Given the description of an element on the screen output the (x, y) to click on. 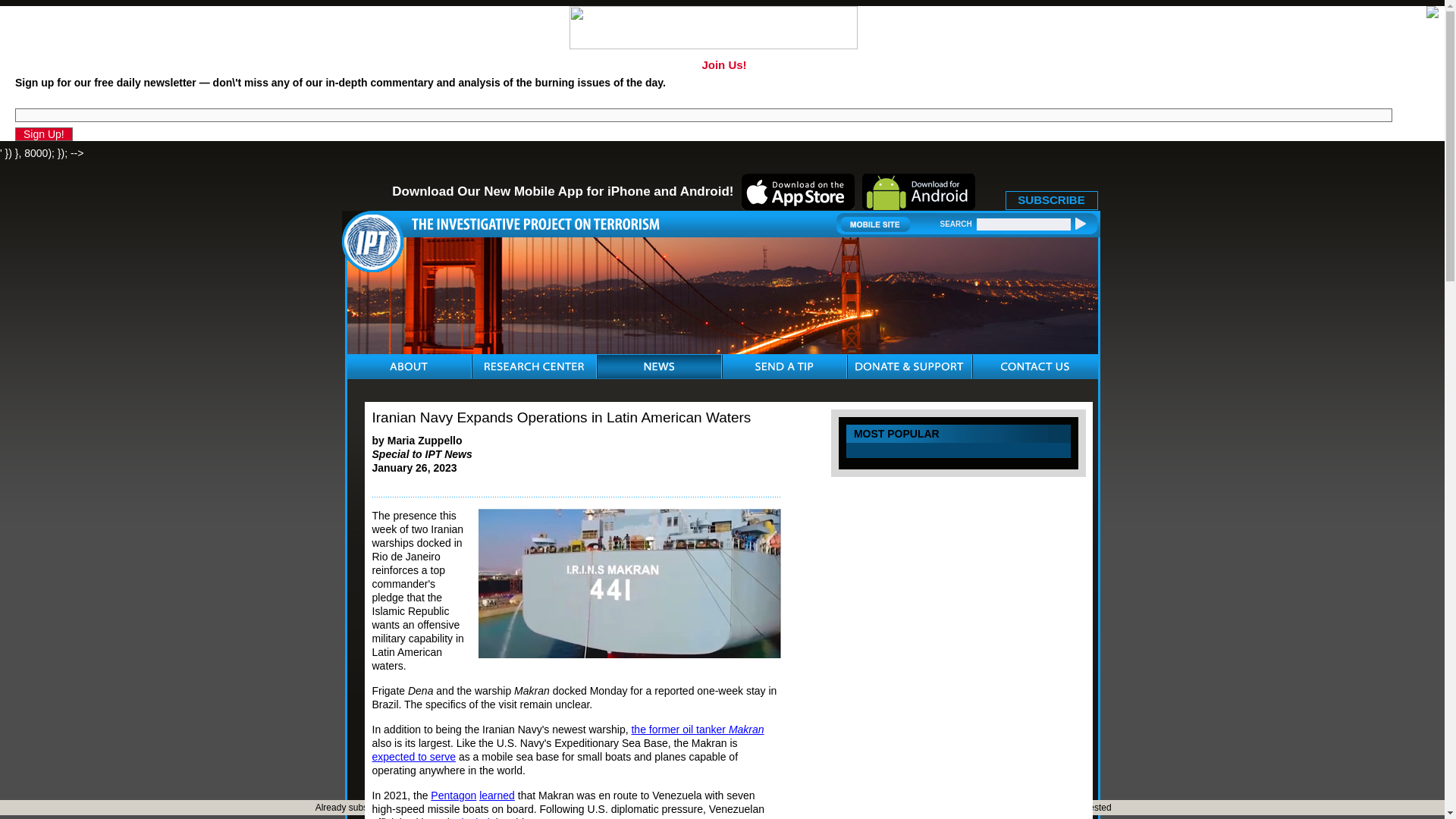
RESEARCH CENTER (533, 366)
Pentagon (453, 795)
learned (497, 795)
Sign Up! (43, 133)
Sign Up! (43, 133)
NEWS (658, 366)
SEND A TIP (784, 366)
SUBSCRIBE (1051, 199)
denied (473, 817)
expected to serve (413, 756)
the former oil tanker Makran (696, 729)
CONTACT US (1034, 366)
ABOUT (409, 366)
